Given the description of an element on the screen output the (x, y) to click on. 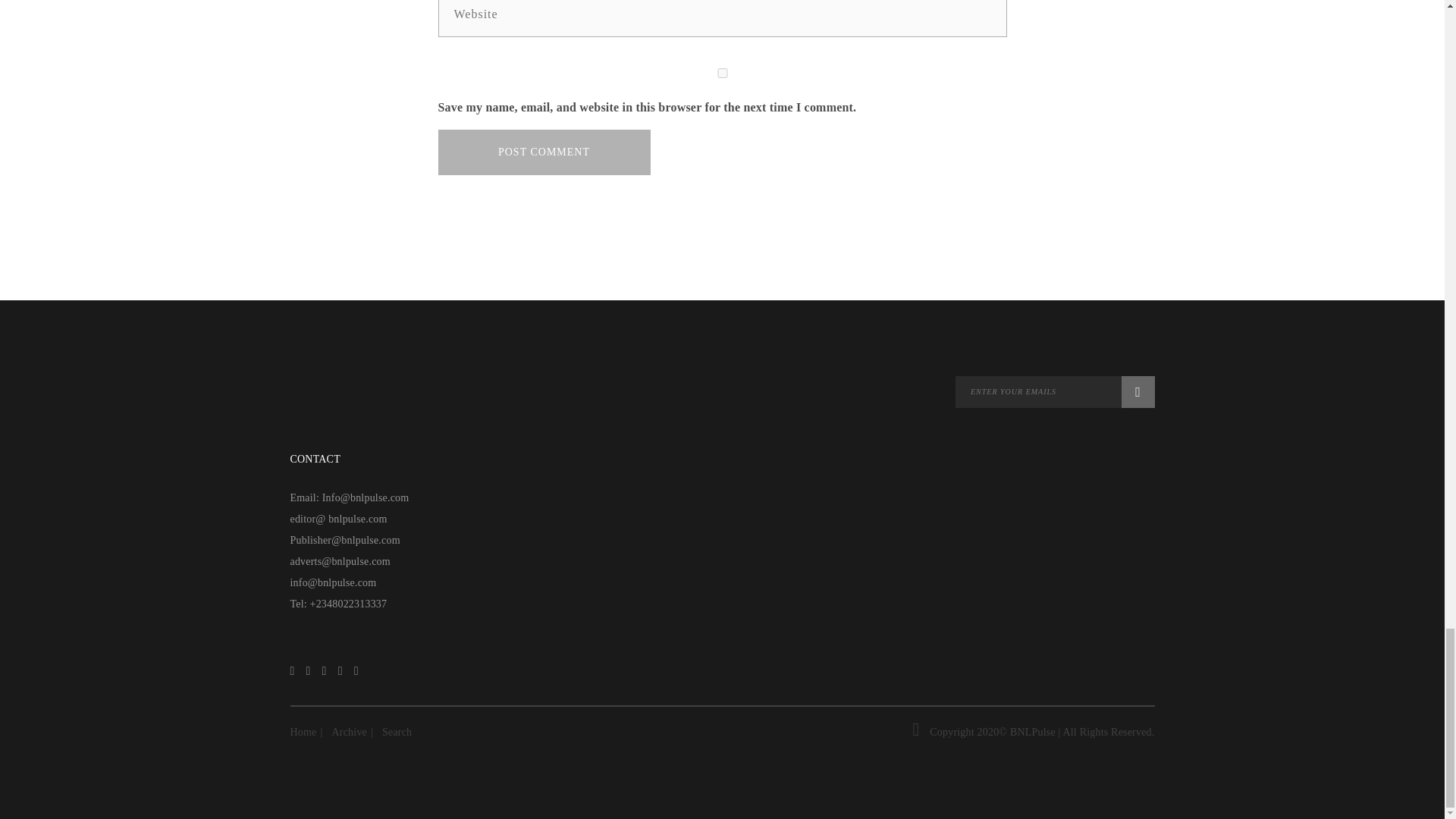
yes (722, 72)
Post Comment (544, 152)
